Given the description of an element on the screen output the (x, y) to click on. 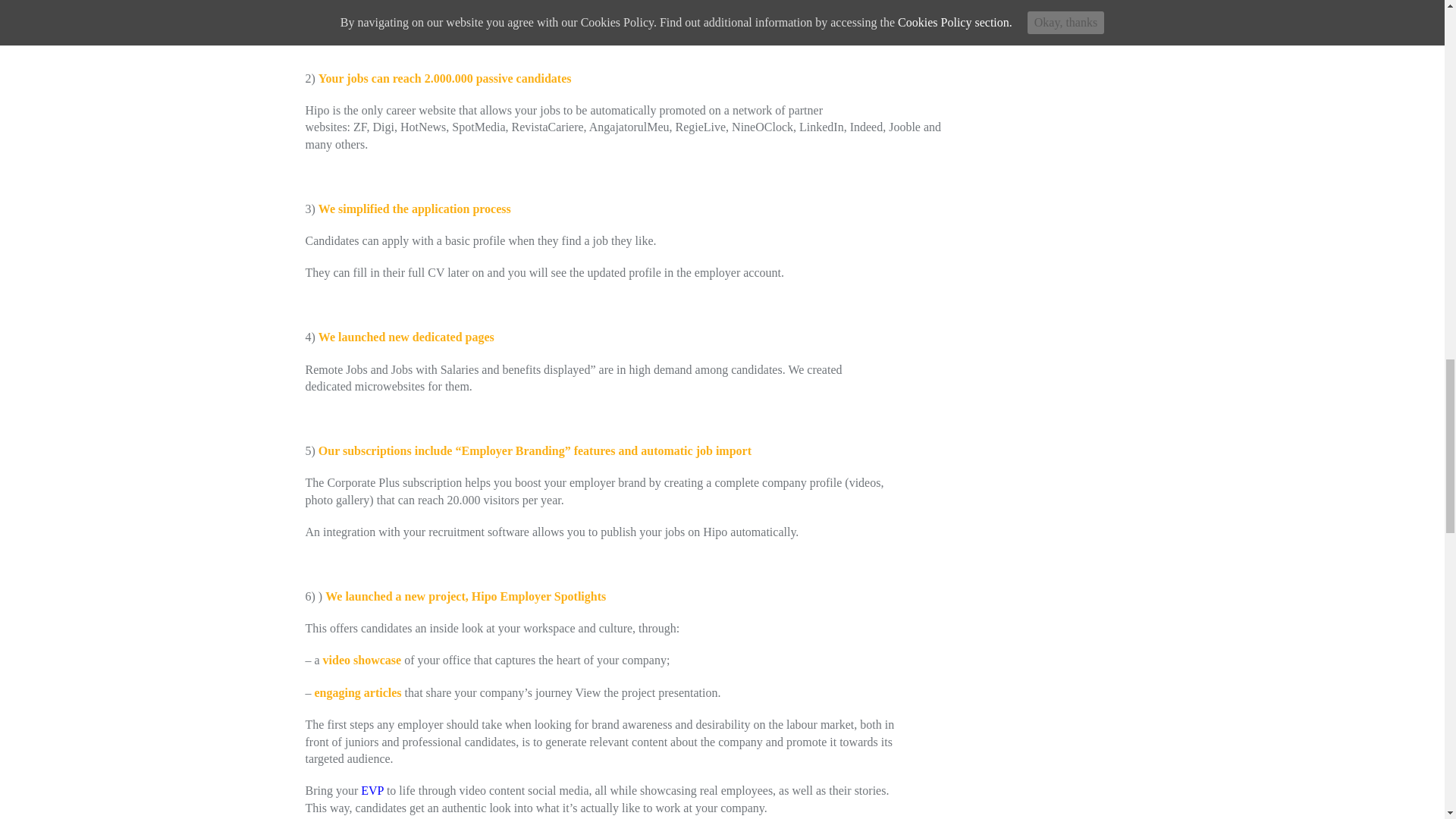
EVP (372, 789)
